Given the description of an element on the screen output the (x, y) to click on. 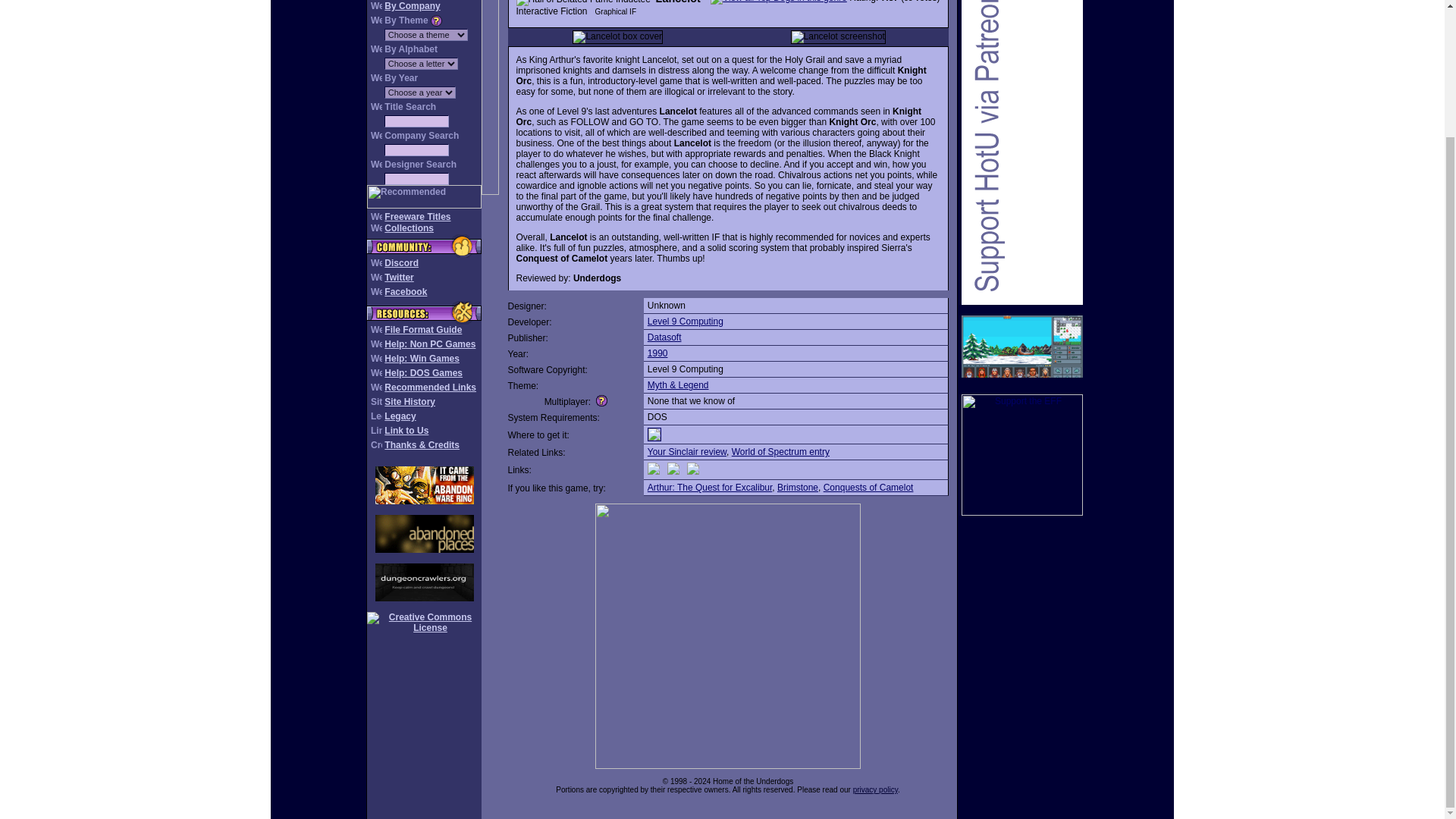
Freeware Titles (416, 216)
Facebook (405, 291)
Collections (408, 227)
By Company (411, 5)
Discord (401, 262)
File Format Guide (422, 329)
Twitter (398, 276)
Link to Us (406, 430)
Site History (409, 401)
Recommended Links (430, 387)
Legacy (399, 416)
Help: DOS Games (423, 372)
Help: Non PC Games (430, 344)
Help: Win Games (422, 357)
